Given the description of an element on the screen output the (x, y) to click on. 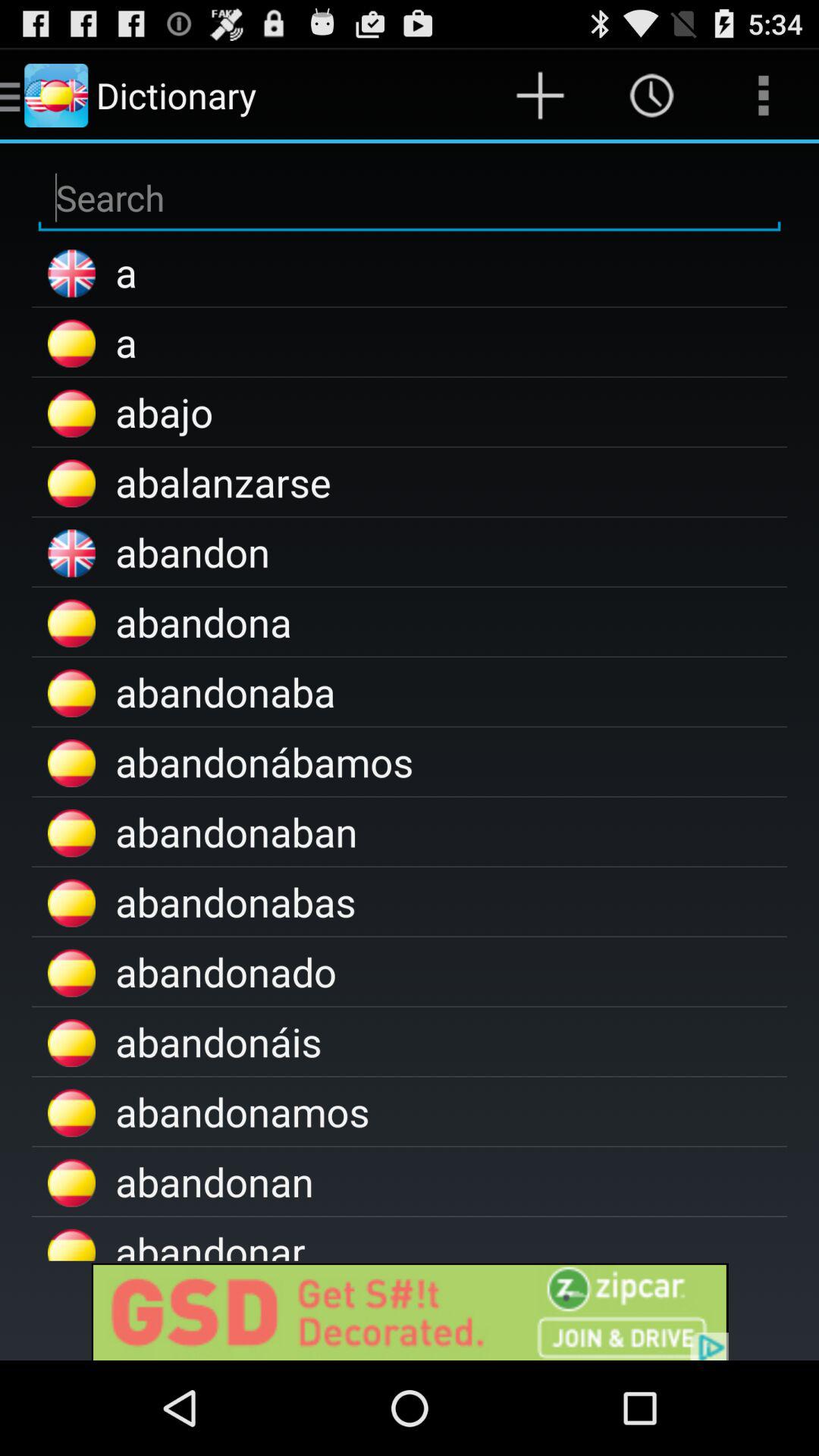
advertisement (409, 1310)
